Given the description of an element on the screen output the (x, y) to click on. 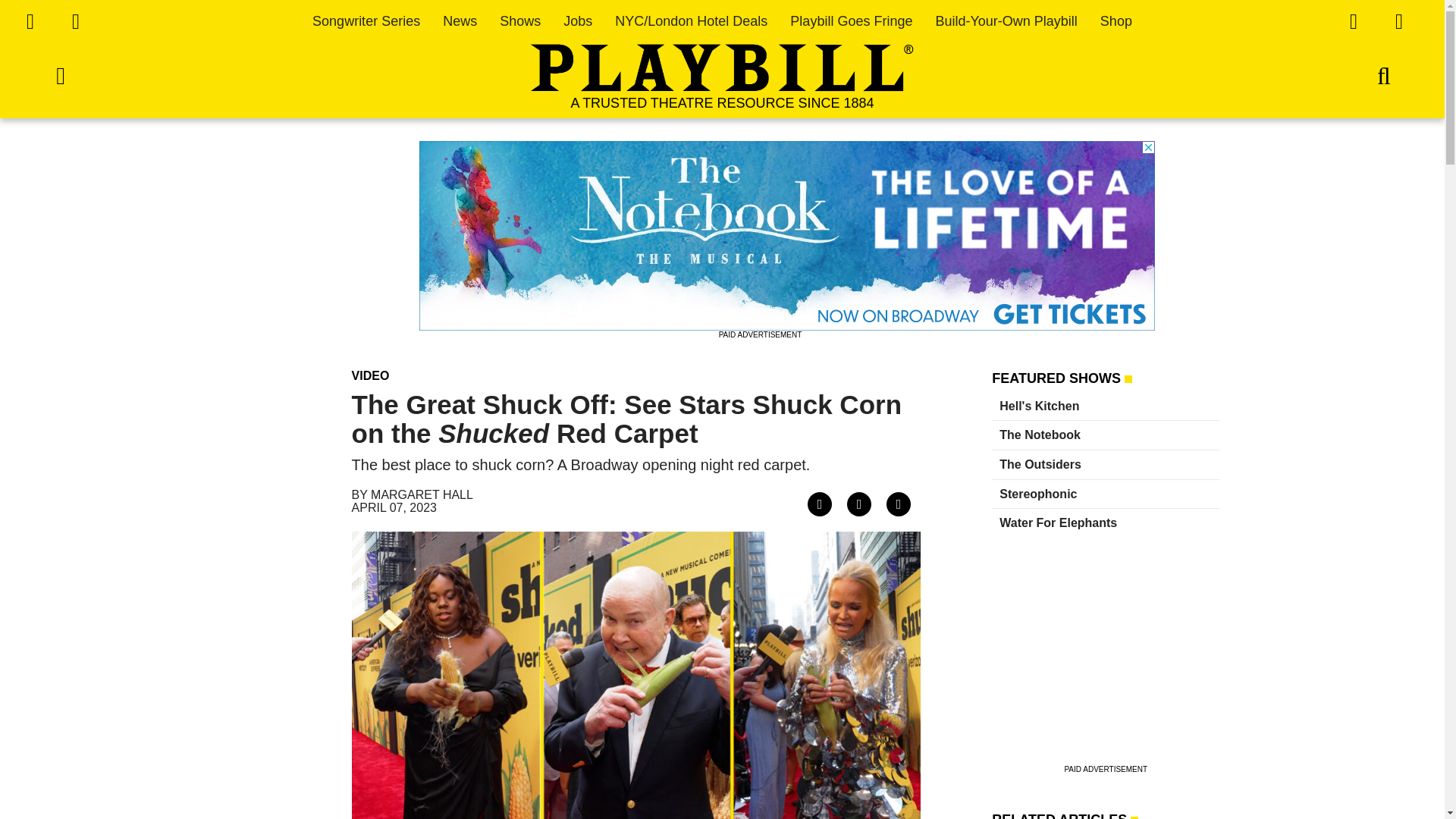
Playbill Goes Fringe (851, 20)
Build-Your-Own Playbill (1005, 20)
Jobs (577, 20)
News (459, 20)
Shop (1116, 20)
Shows (519, 20)
Songwriter Series (366, 20)
